Given the description of an element on the screen output the (x, y) to click on. 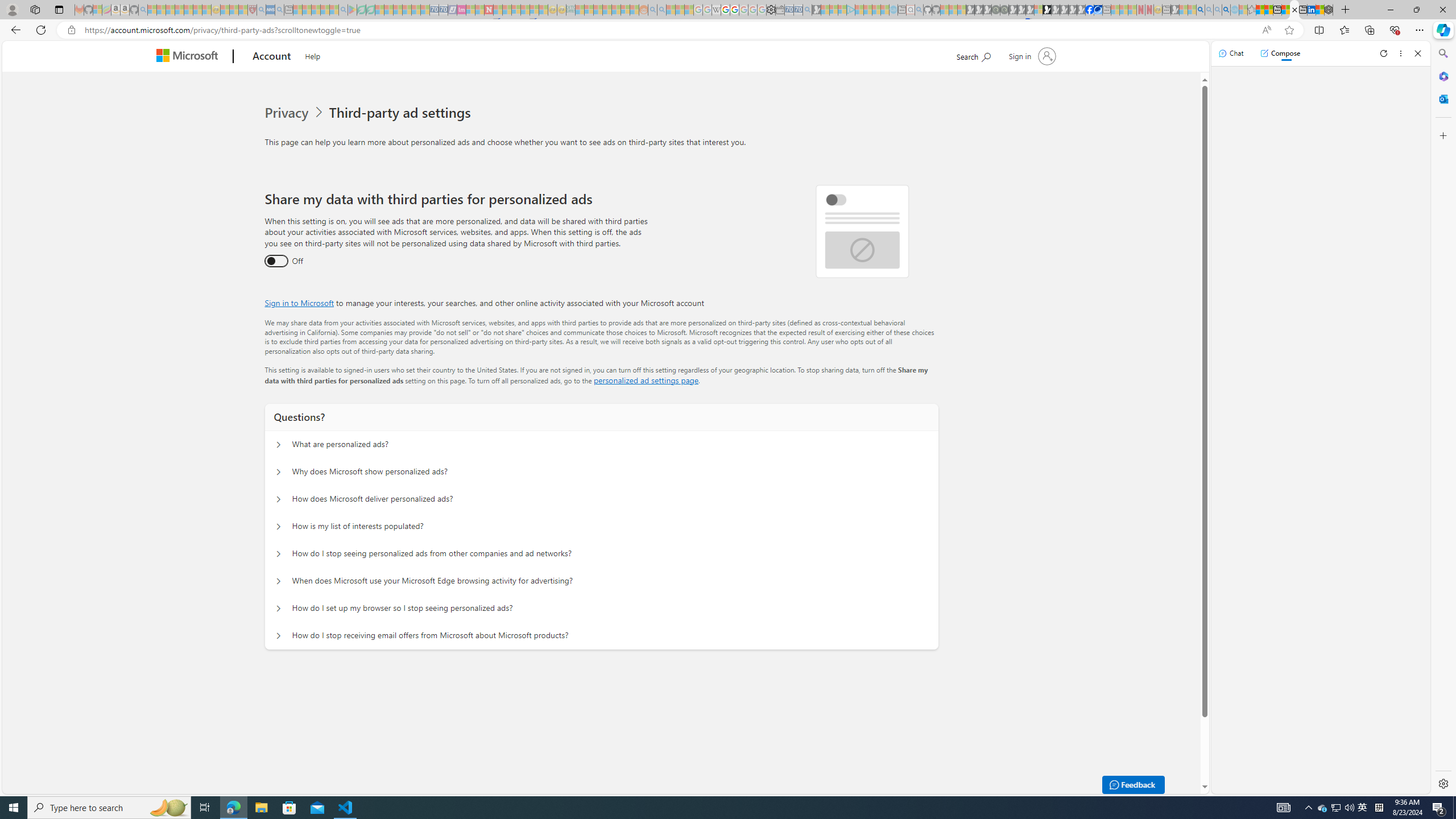
Sign in to your account - Sleeping (1038, 9)
Future Focus Report 2024 - Sleeping (1004, 9)
